Given the description of an element on the screen output the (x, y) to click on. 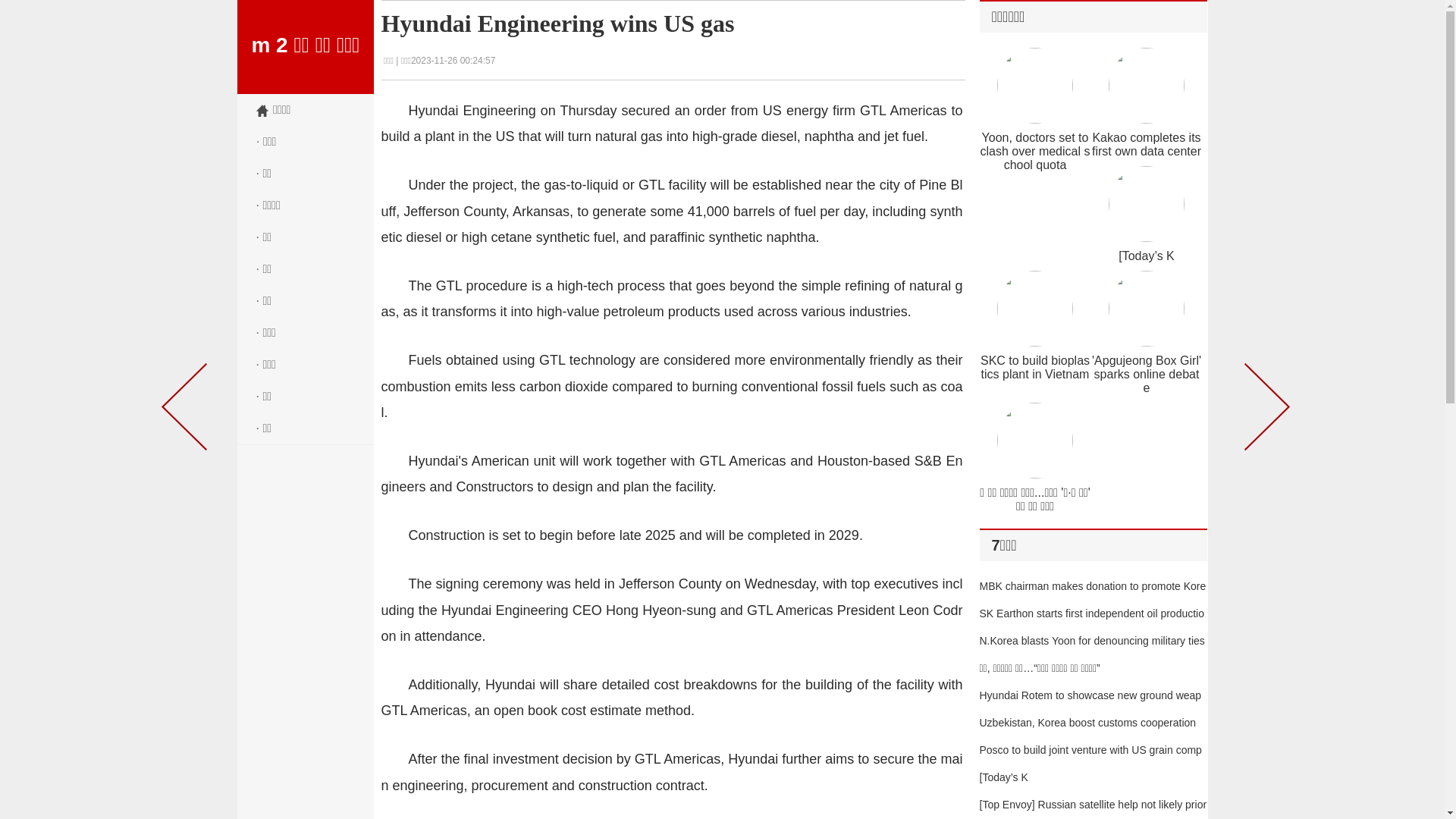
Hyundai Engineering wins US gas Element type: text (557, 23)
Posco to build joint venture with US grain company Element type: text (1090, 763)
Kakao completes its first own data center Element type: text (1146, 144)
Uzbekistan, Korea boost customs cooperation Element type: text (1087, 722)
Yoon, doctors set to clash over medical school quota Element type: text (1035, 151)
'Apgujeong Box Girl' sparks online debate Element type: text (1146, 374)
SKC to build bioplastics plant in Vietnam Element type: text (1034, 367)
Number of deaths in cycling accidents soars Element type: hover (186, 409)
